Given the description of an element on the screen output the (x, y) to click on. 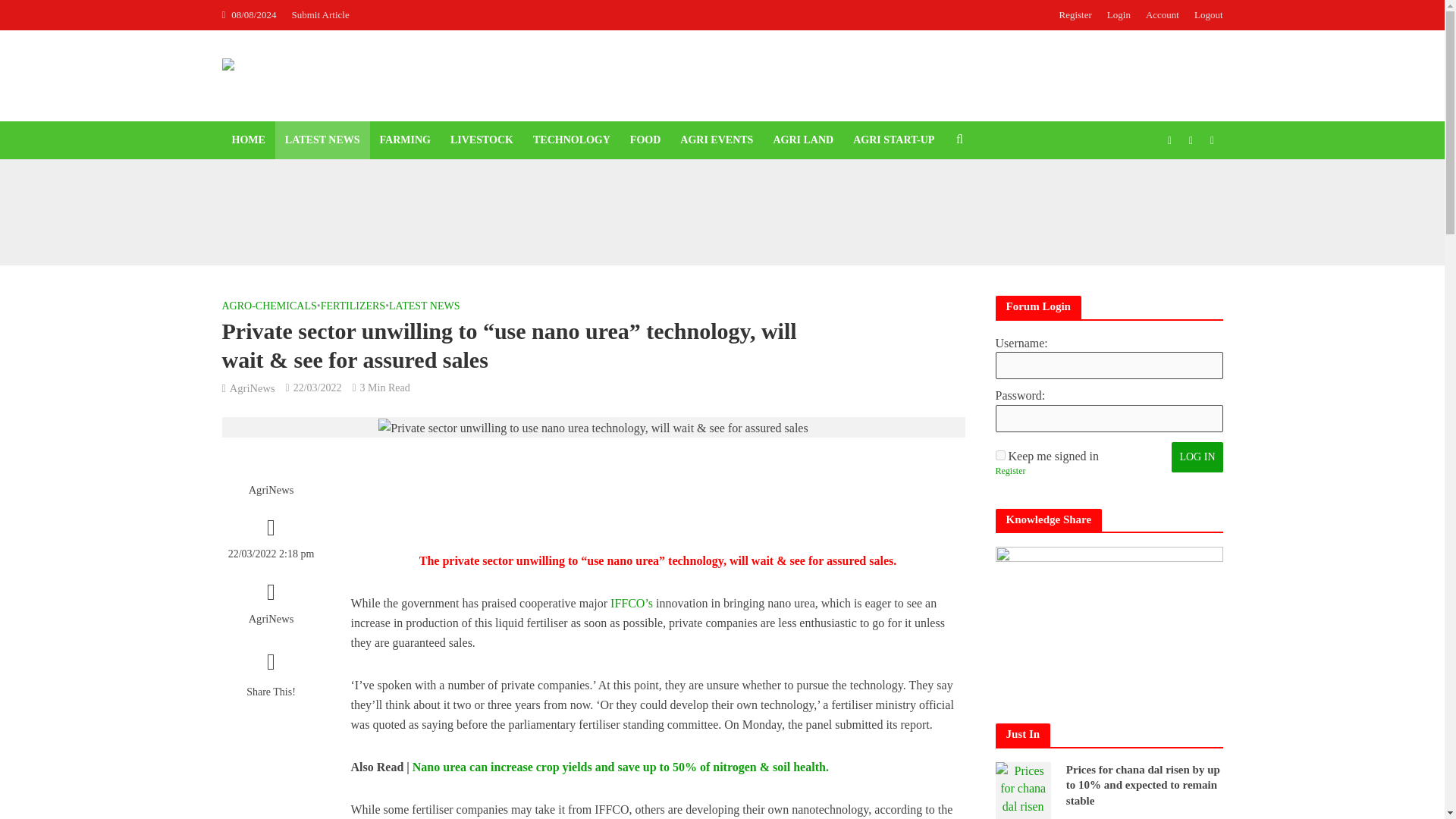
FARMING (405, 139)
Logout (1204, 15)
TECHNOLOGY (571, 139)
LIVESTOCK (481, 139)
FOOD (644, 139)
Submit Article (323, 15)
Knowledge Share (1108, 619)
AGRI EVENTS (715, 139)
AGRI LAND (802, 139)
forever (999, 455)
Login (1118, 15)
Register (1075, 15)
AGRI START-UP (893, 139)
HOME (248, 139)
Register (1009, 471)
